Given the description of an element on the screen output the (x, y) to click on. 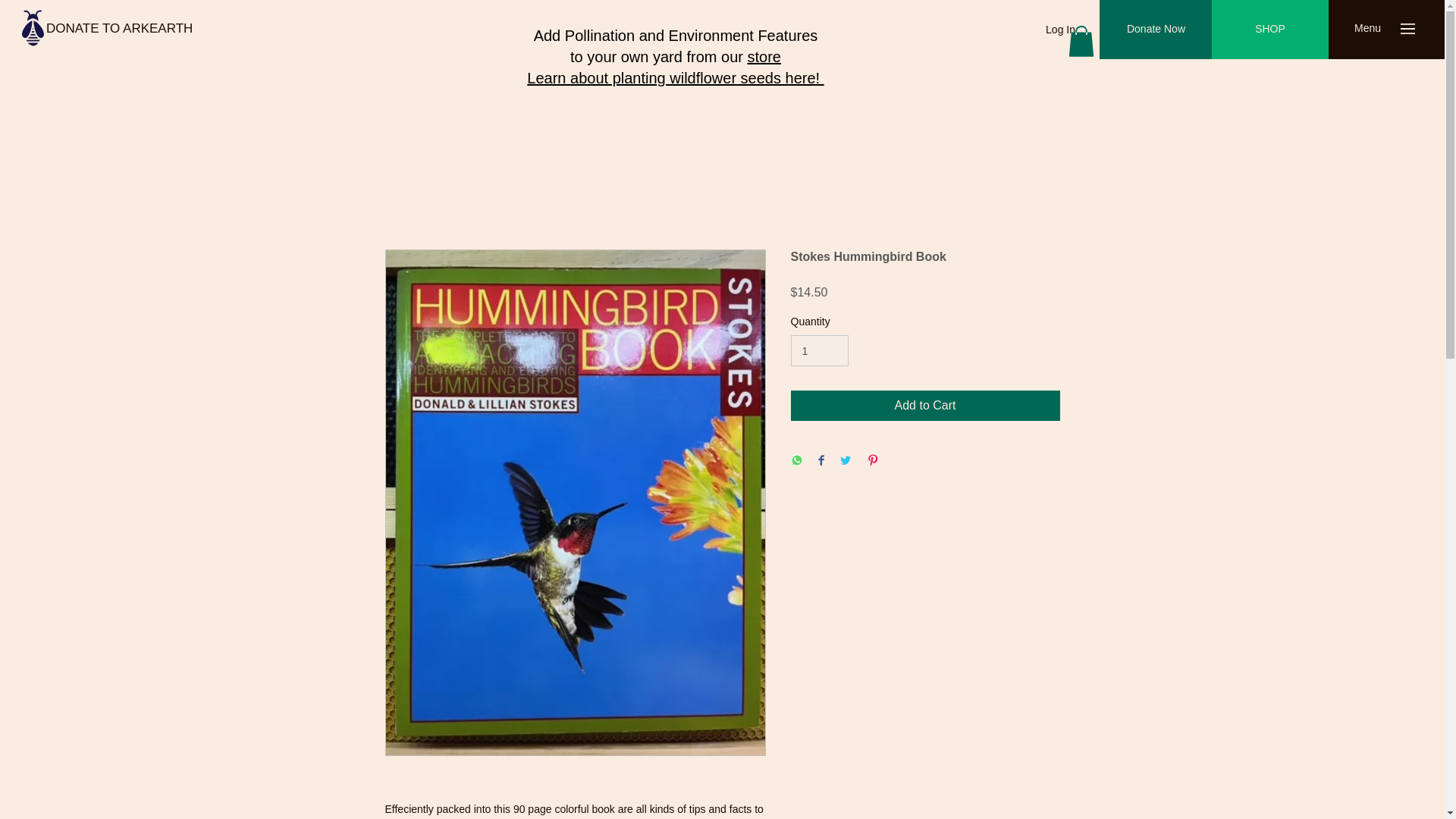
1 (818, 350)
Donate Now (1155, 29)
SHOP (1269, 29)
DONATE TO ARKEARTH (119, 27)
store (763, 56)
Log In (1060, 30)
Add to Cart (924, 405)
Learn about planting wildflower seeds here!  (675, 77)
